Given the description of an element on the screen output the (x, y) to click on. 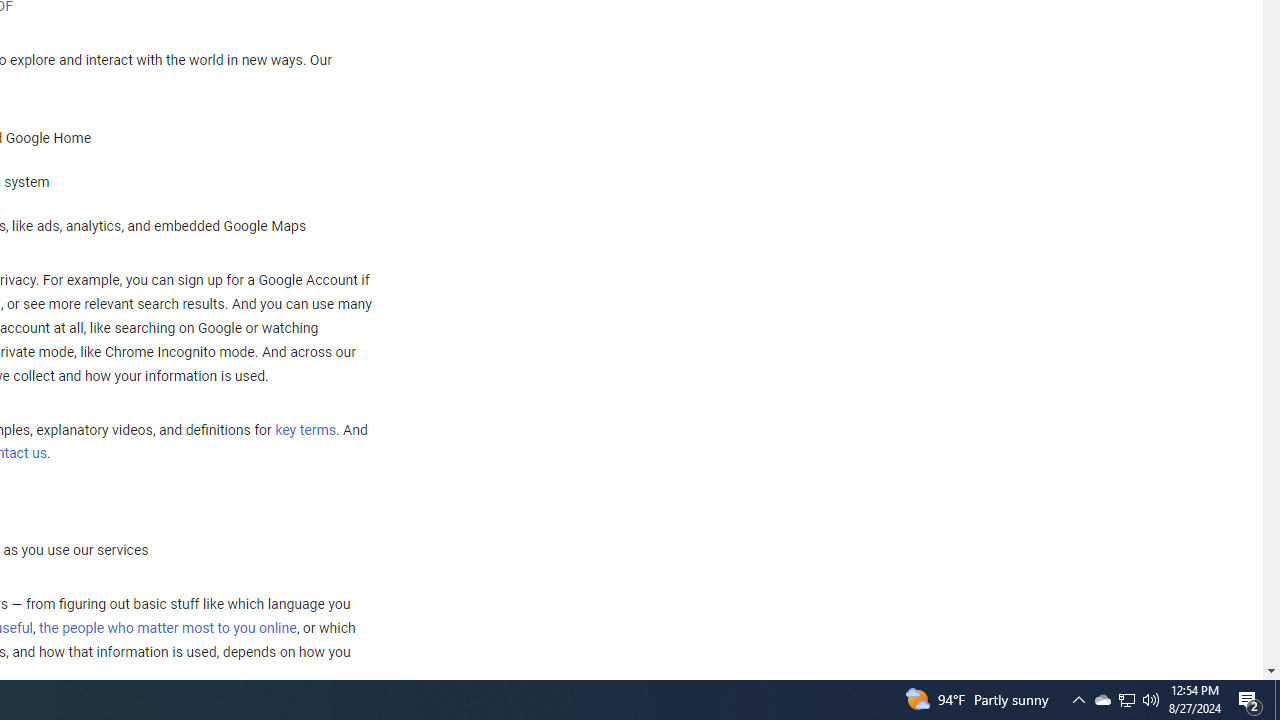
the people who matter most to you online (167, 628)
key terms (305, 430)
